Given the description of an element on the screen output the (x, y) to click on. 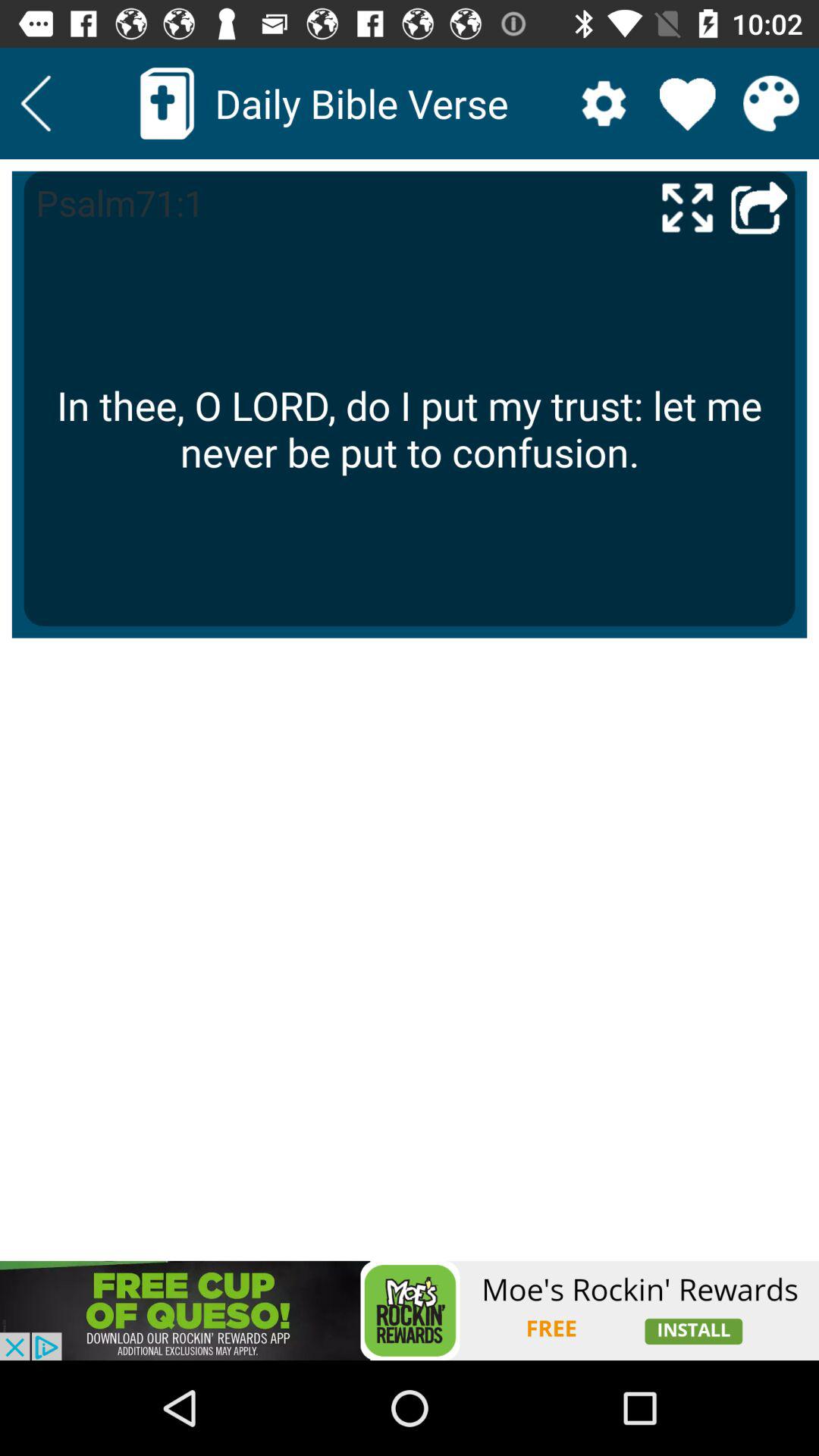
favorite the verse (687, 103)
